Given the description of an element on the screen output the (x, y) to click on. 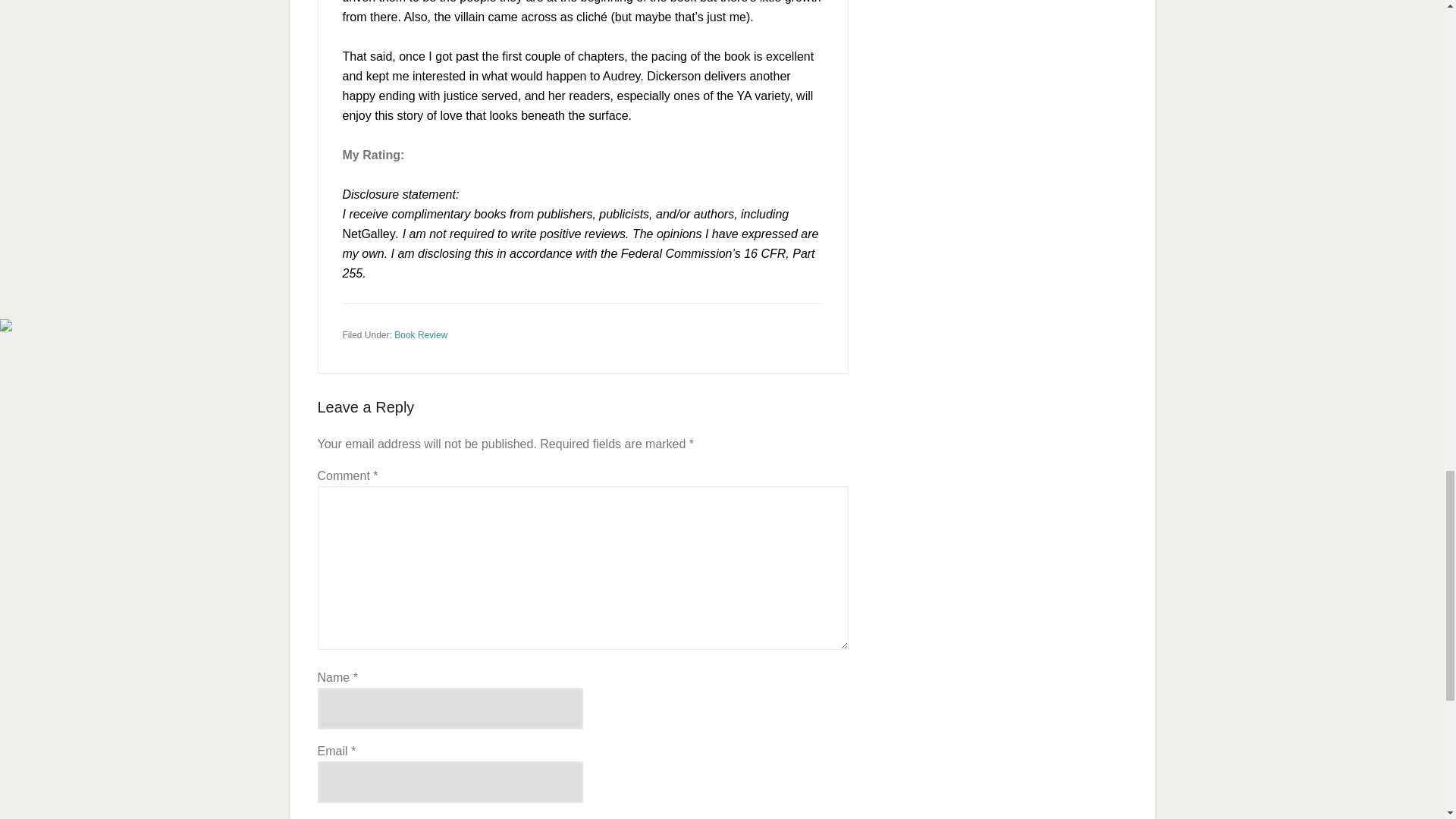
Book Review (420, 334)
